Given the description of an element on the screen output the (x, y) to click on. 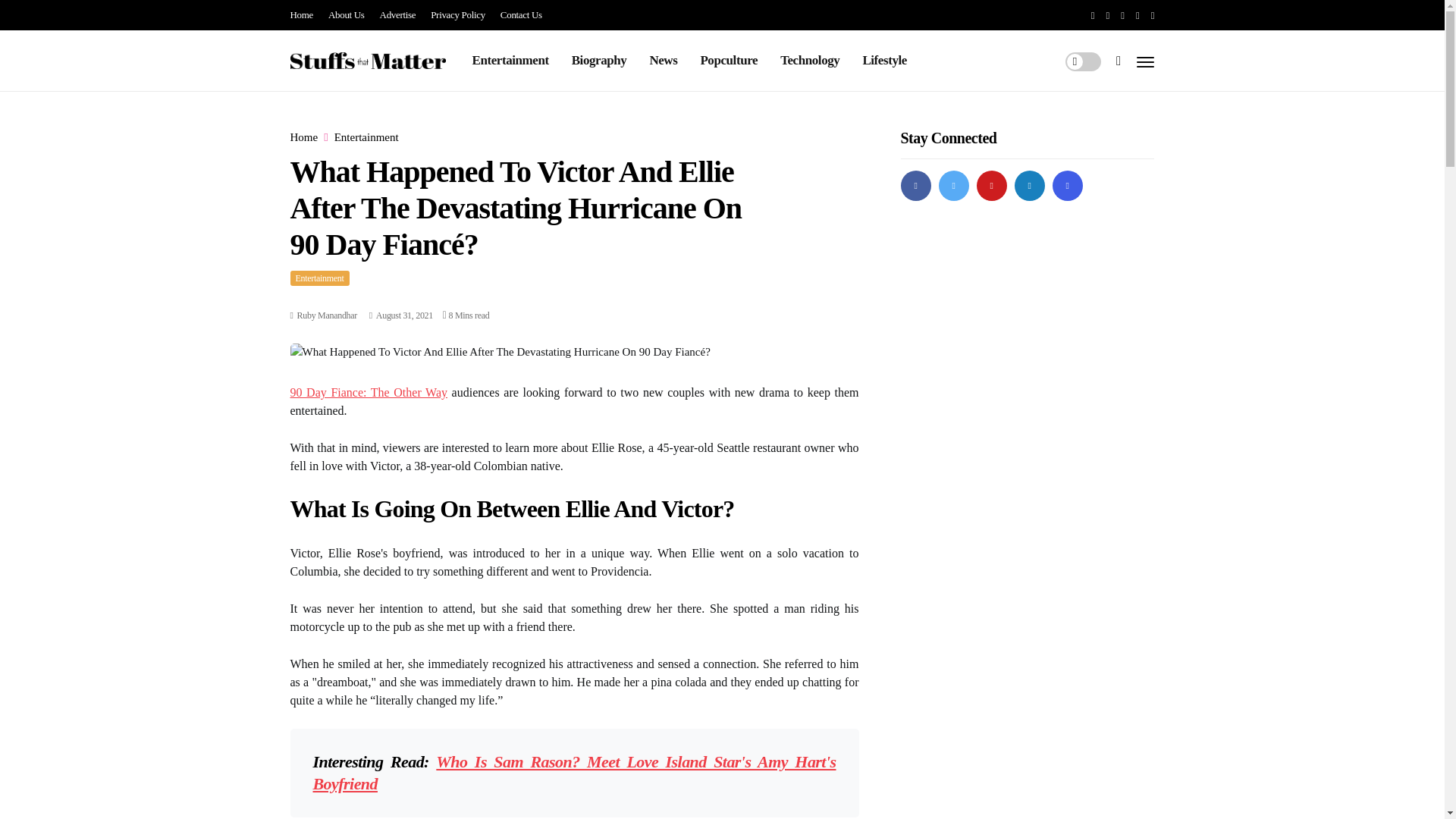
Entertainment (319, 277)
Advertise (398, 15)
August 31, 2021 11:36 AM (400, 315)
Biography (599, 60)
Privacy Policy (457, 15)
Contact Us (520, 15)
Entertainment (509, 60)
Entertainment (366, 137)
Popculture (728, 60)
Posts by Ruby Manandhar (326, 315)
Ruby Manandhar (326, 315)
About Us (347, 15)
Technology (810, 60)
Home (303, 137)
